Given the description of an element on the screen output the (x, y) to click on. 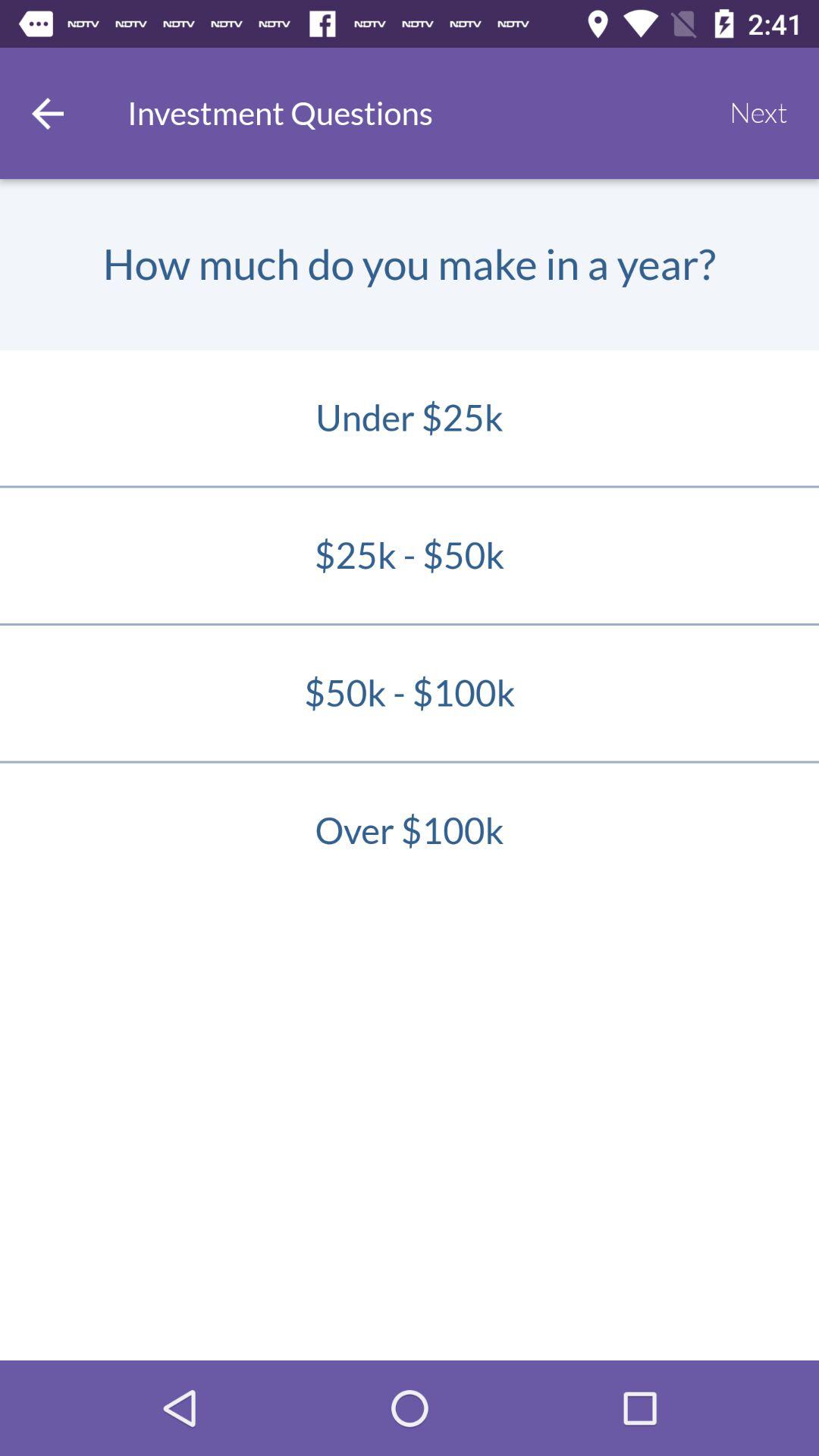
turn on the icon to the right of the investment questions item (758, 113)
